Given the description of an element on the screen output the (x, y) to click on. 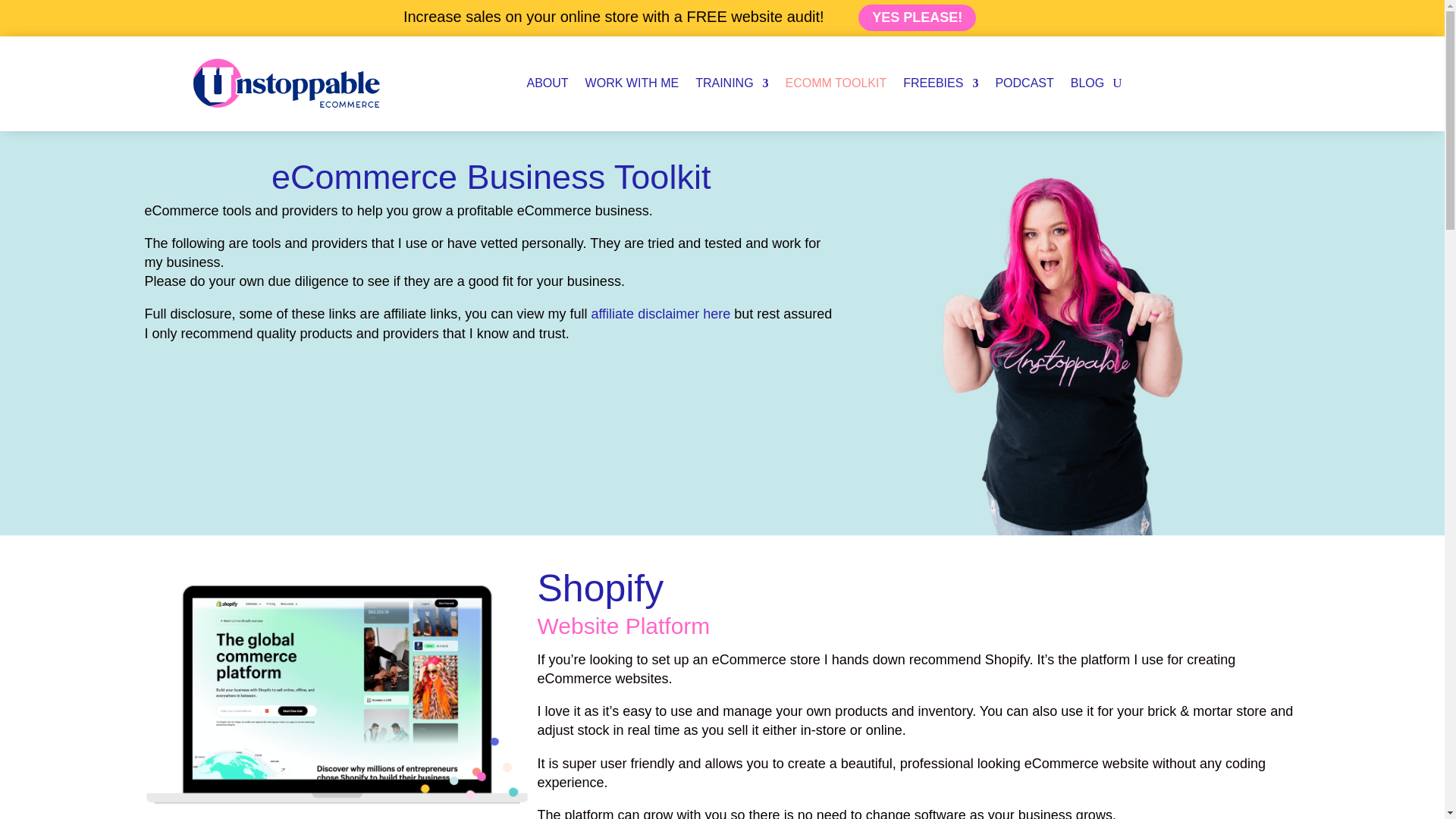
YES PLEASE! (917, 17)
ECOMM TOOLKIT (836, 83)
WORK WITH ME (632, 83)
Shopify eCommerce (336, 694)
affiliate disclaimer here (660, 313)
